Given the description of an element on the screen output the (x, y) to click on. 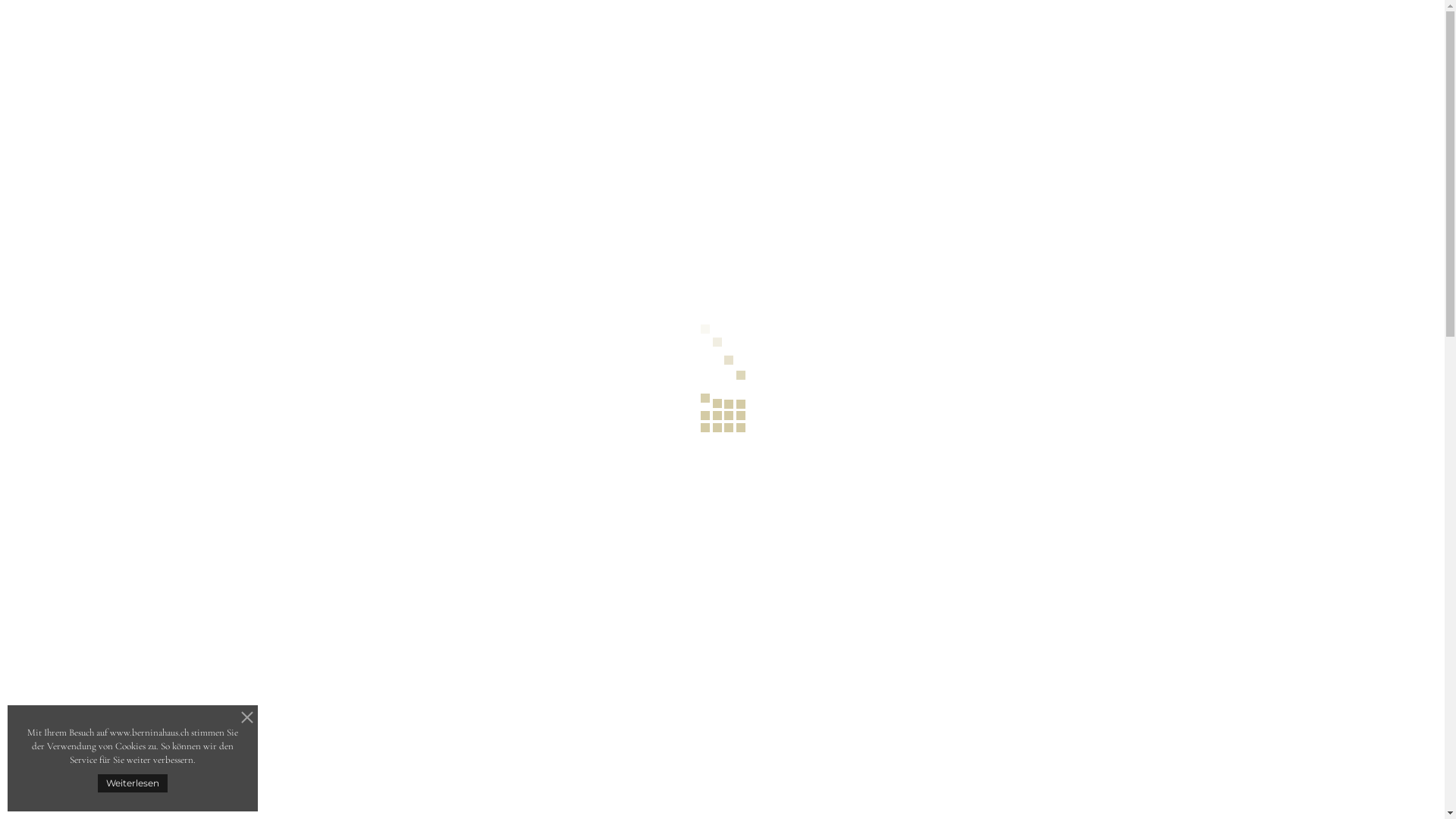
SOMMER Element type: text (760, 12)
Weiterlesen Element type: text (132, 783)
BERNINAHAUS Element type: text (391, 48)
HERBST Element type: text (830, 12)
PACKAGES Element type: text (1044, 46)
WINTER Element type: text (898, 12)
  Element type: text (710, 514)
METEO & LIVECAMS Element type: text (1009, 12)
EN Element type: text (1161, 12)
GUTSCHEINE Element type: text (1134, 46)
DE Element type: text (1144, 12)
RESTAURANT Element type: text (829, 46)
KONTAKT Element type: text (1089, 12)
ZIMMER Element type: text (913, 46)
Startseite Element type: text (991, 133)
